Given the description of an element on the screen output the (x, y) to click on. 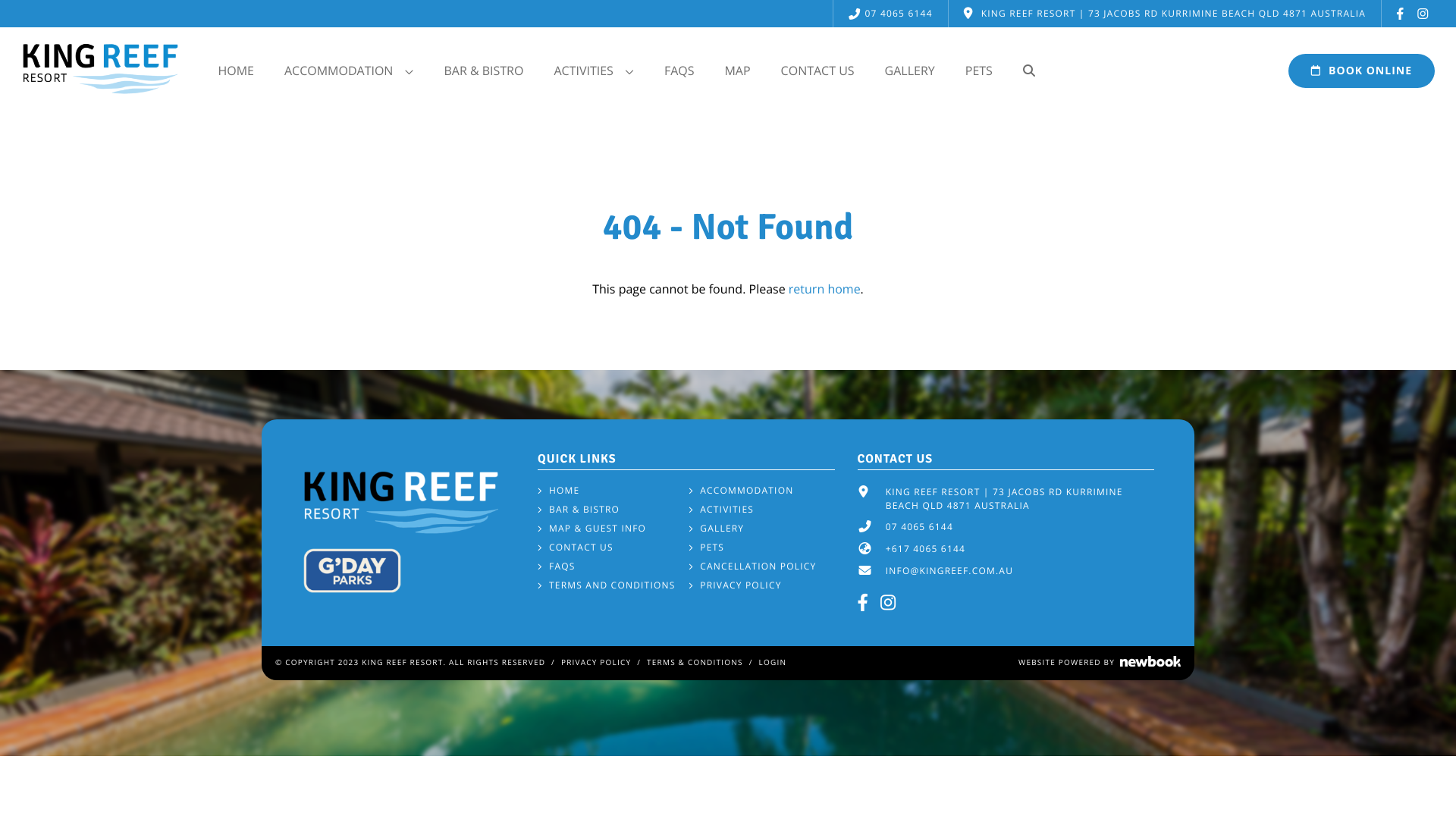
ACTIVITIES Element type: text (720, 509)
CONTACT US Element type: text (575, 547)
LOGIN Element type: text (773, 661)
ACCOMMODATION Element type: text (348, 70)
BOOK ONLINE Element type: text (1361, 70)
TERMS & CONDITIONS Element type: text (694, 661)
BAR & BISTRO Element type: text (483, 69)
CONTACT US Element type: text (817, 69)
PETS Element type: text (978, 69)
MAP Element type: text (737, 69)
TERMS AND CONDITIONS Element type: text (606, 585)
FAQS Element type: text (556, 566)
INFO@KINGREEF.COM.AU Element type: text (949, 570)
+617 4065 6144 Element type: text (925, 548)
return home Element type: text (824, 288)
BAR & BISTRO Element type: text (578, 509)
ACCOMMODATION Element type: text (740, 490)
GALLERY Element type: text (715, 528)
HOME Element type: text (235, 69)
07 4065 6144 Element type: text (889, 13)
PRIVACY POLICY Element type: text (734, 585)
CANCELLATION POLICY Element type: text (751, 566)
PRIVACY POLICY Element type: text (595, 661)
PETS Element type: text (706, 547)
07 4065 6144 Element type: text (919, 526)
FAQS Element type: text (679, 69)
HOME Element type: text (558, 490)
GALLERY Element type: text (909, 69)
MAP & GUEST INFO Element type: text (591, 528)
ACTIVITIES Element type: text (593, 70)
